Given the description of an element on the screen output the (x, y) to click on. 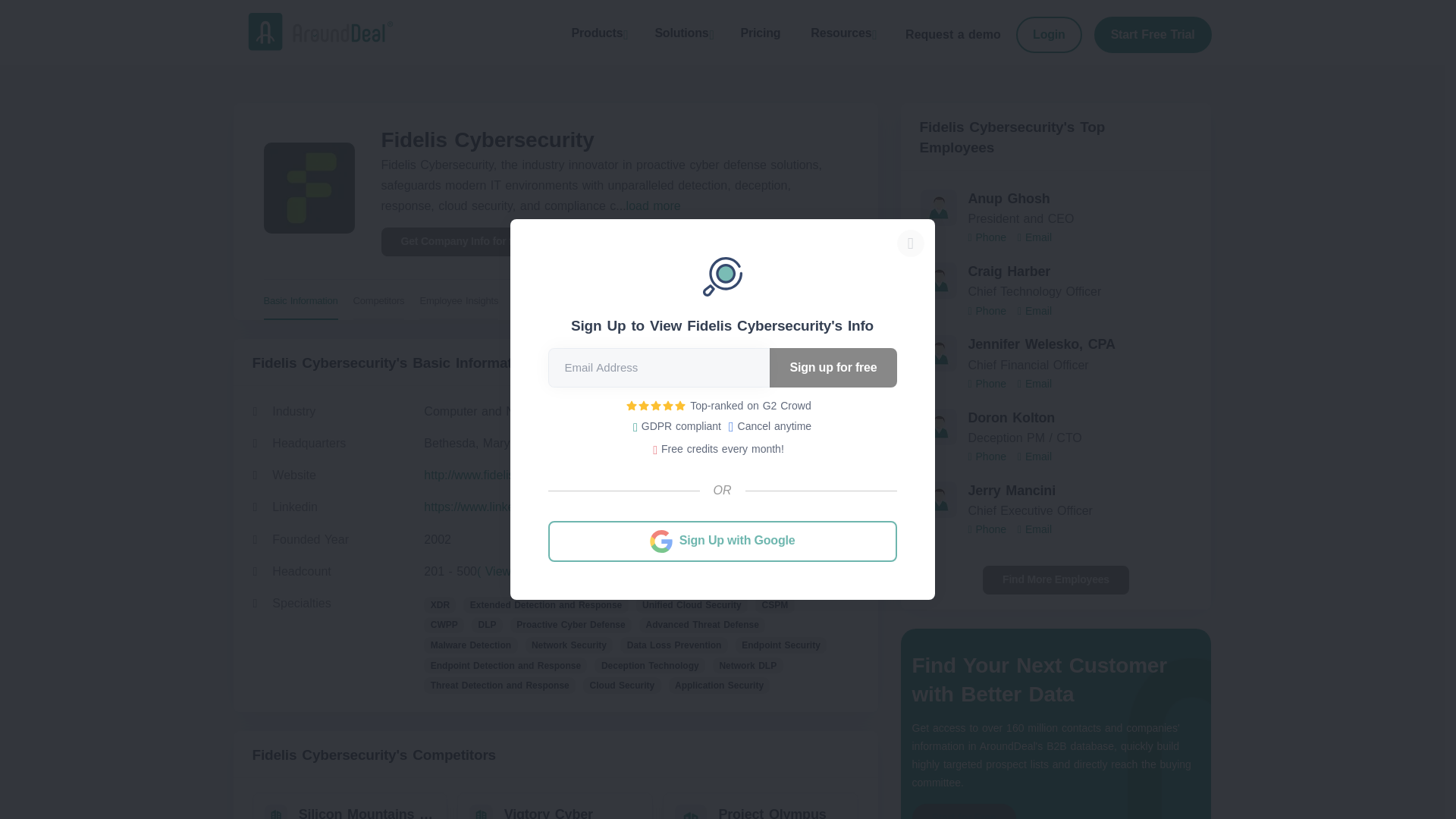
XDR (439, 605)
Get Company Info for free (463, 241)
Extended Detection and Response (545, 605)
Application Security (719, 685)
Deception Technology (649, 665)
Products (598, 34)
CSPM (774, 605)
Cloud Security (622, 685)
Endpoint Detection and Response (504, 665)
Request a demo (954, 34)
Login (1048, 34)
Network DLP (748, 665)
Pricing (759, 32)
Proactive Cyber Defense (571, 625)
Employee Insights (458, 301)
